Given the description of an element on the screen output the (x, y) to click on. 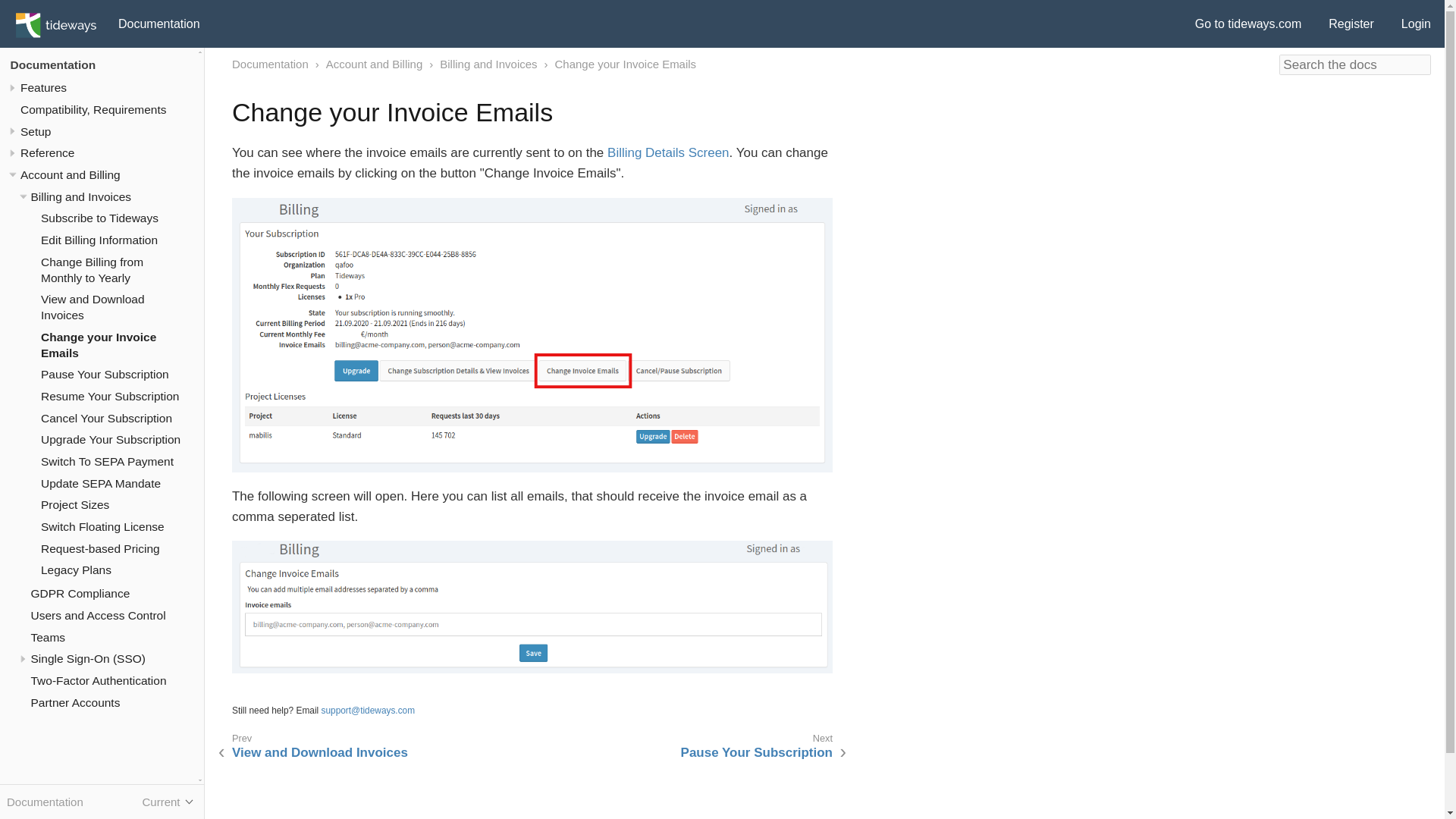
Documentation (159, 23)
Documentation (53, 64)
Register (1350, 23)
Go to tideways.com (1248, 23)
Features (43, 87)
